Given the description of an element on the screen output the (x, y) to click on. 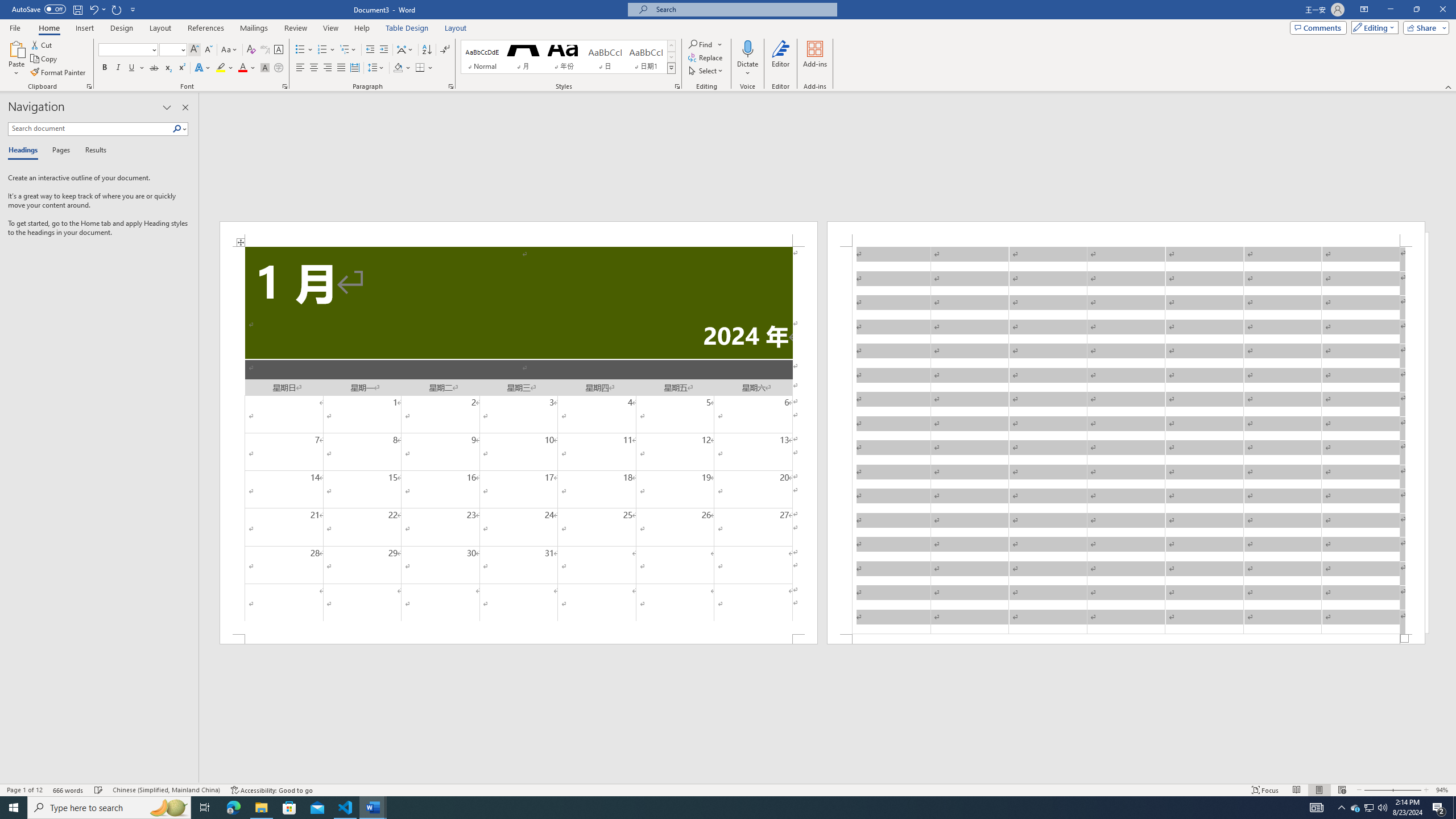
AutomationID: QuickStylesGallery (568, 56)
